Given the description of an element on the screen output the (x, y) to click on. 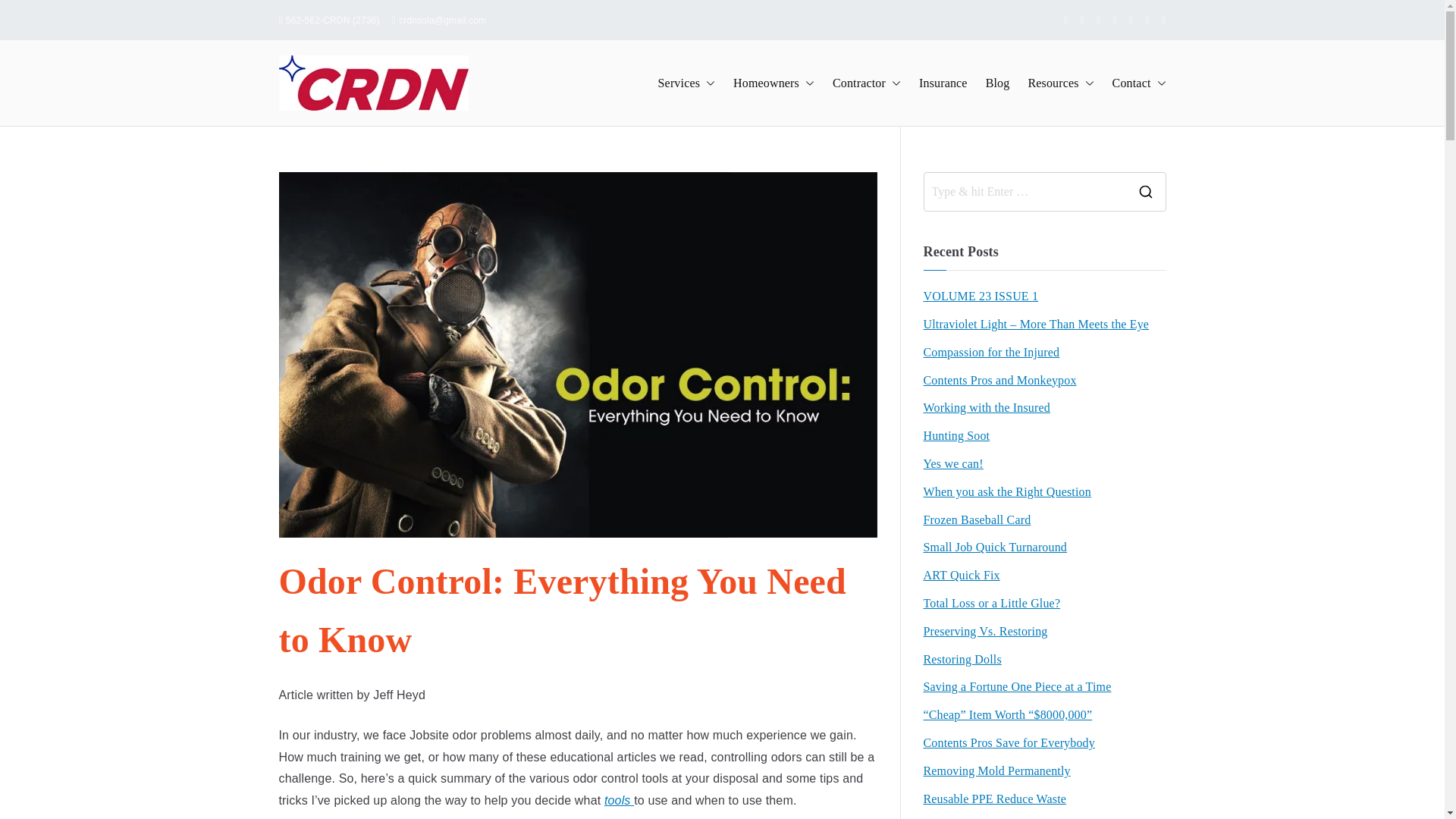
Contractor (866, 83)
Insurance (943, 83)
Search for: (1024, 191)
CRDN of South Los Angeles (571, 93)
Resources (1060, 83)
Blog (997, 83)
Homeowners (773, 83)
Services (686, 83)
